Given the description of an element on the screen output the (x, y) to click on. 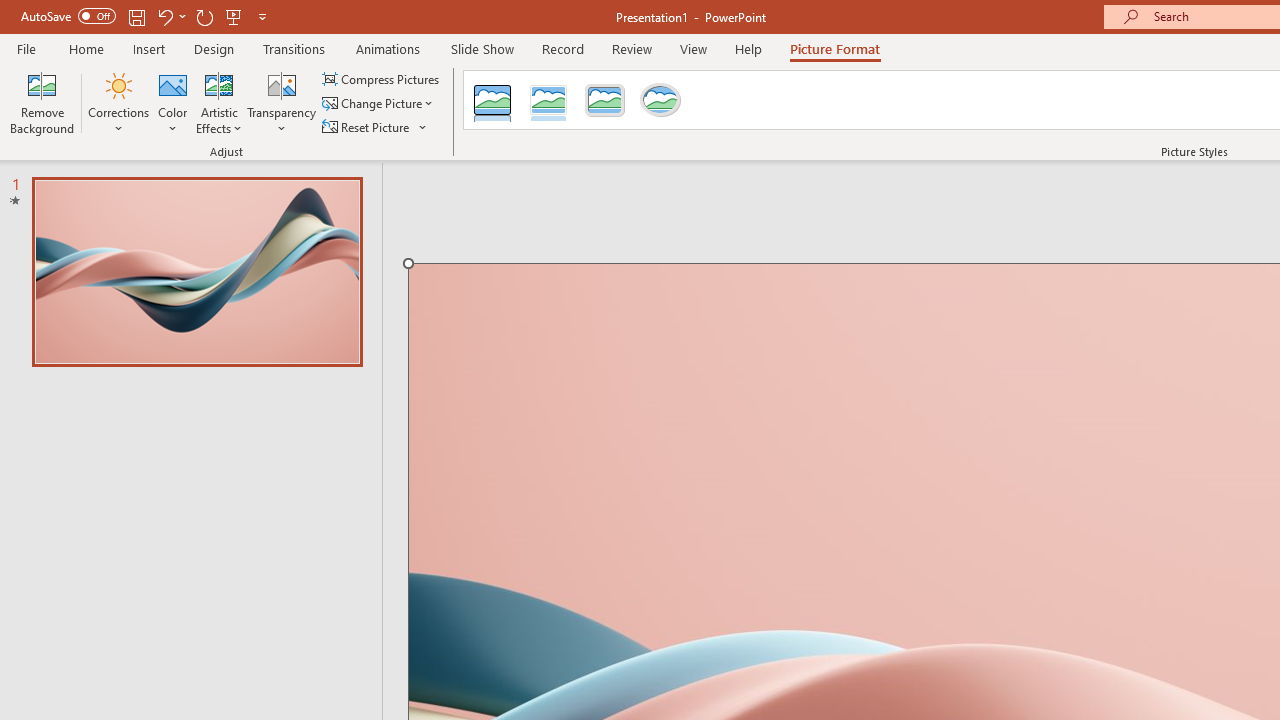
Metal Oval (660, 100)
Color (173, 102)
